Given the description of an element on the screen output the (x, y) to click on. 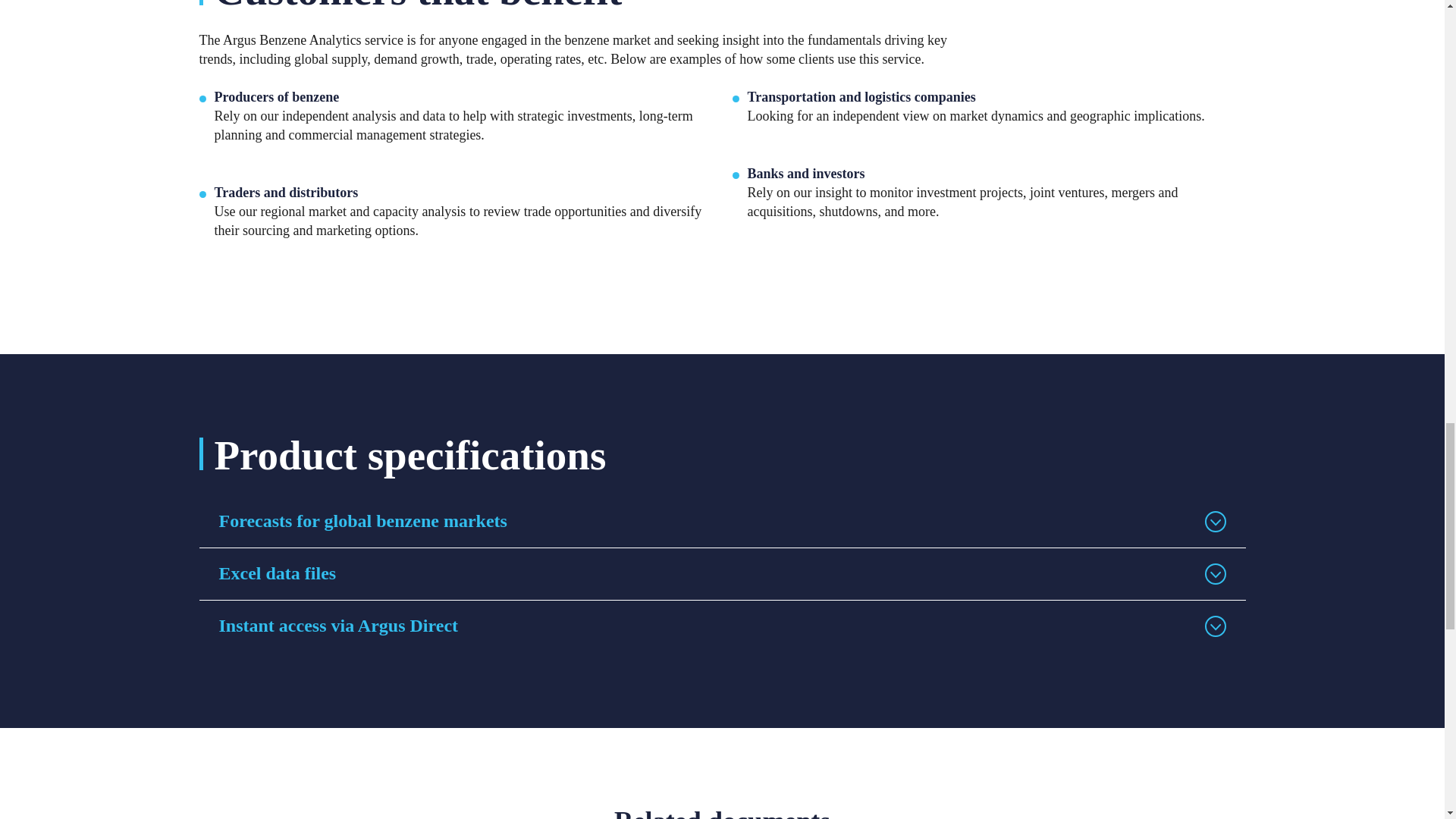
Instant access via Argus Direct (721, 625)
Forecasts for global benzene markets (721, 521)
Excel data files (721, 573)
